Given the description of an element on the screen output the (x, y) to click on. 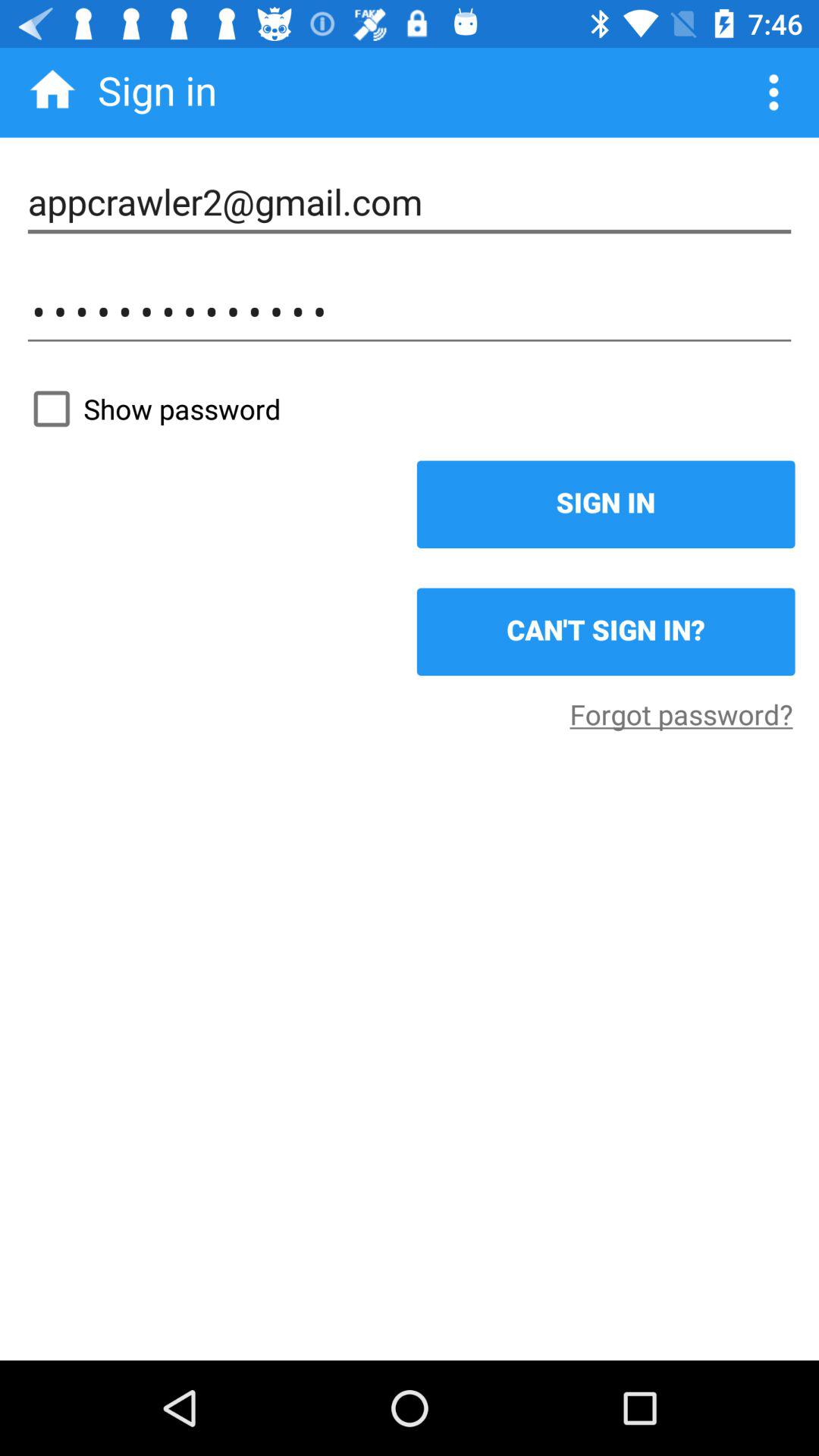
tap the can t sign (605, 631)
